Given the description of an element on the screen output the (x, y) to click on. 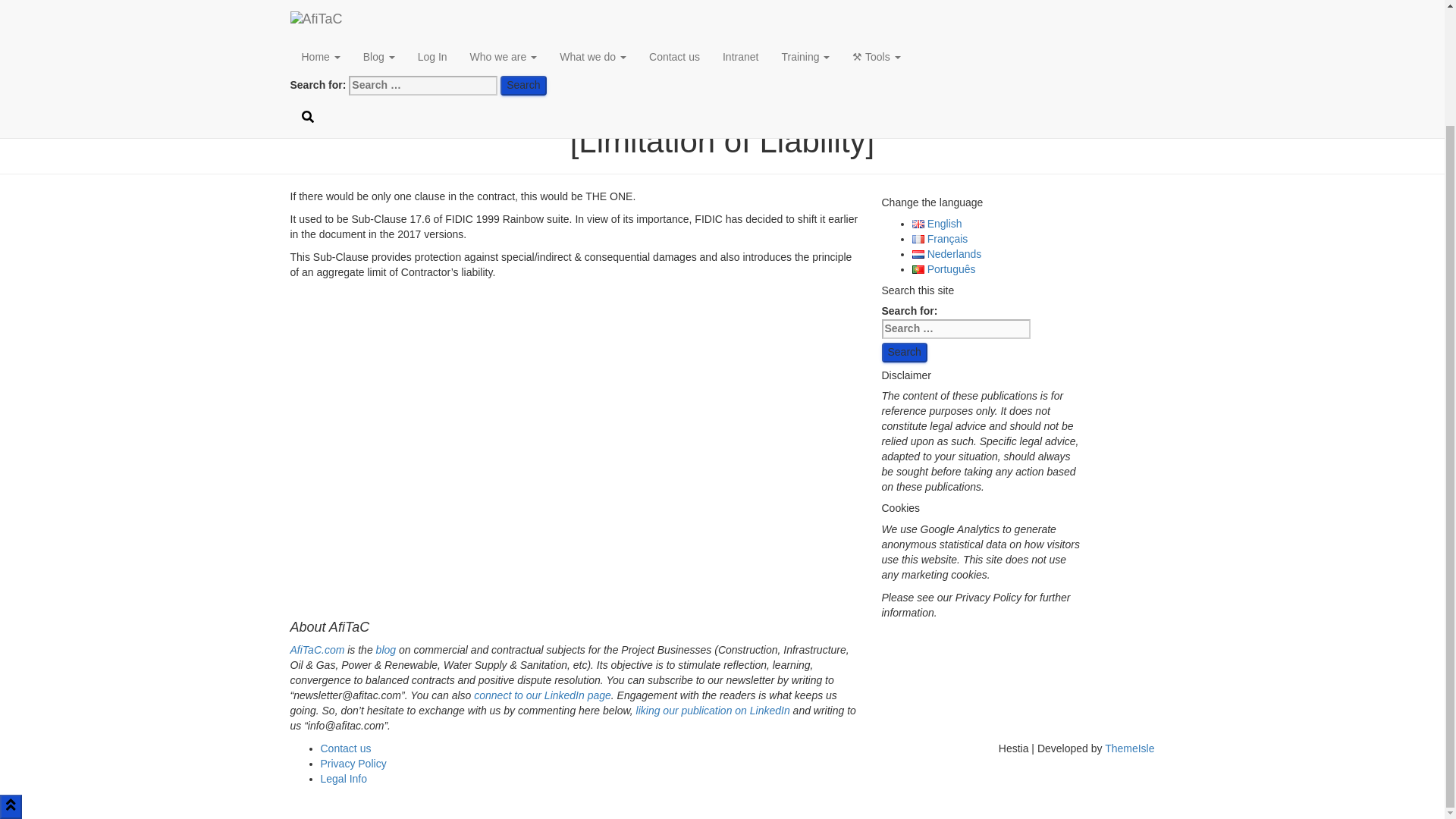
Search (903, 352)
SMEs (721, 28)
SMEs (721, 28)
Dispute Resolution (721, 6)
Dispute Resolution (721, 6)
Search (903, 352)
